Given the description of an element on the screen output the (x, y) to click on. 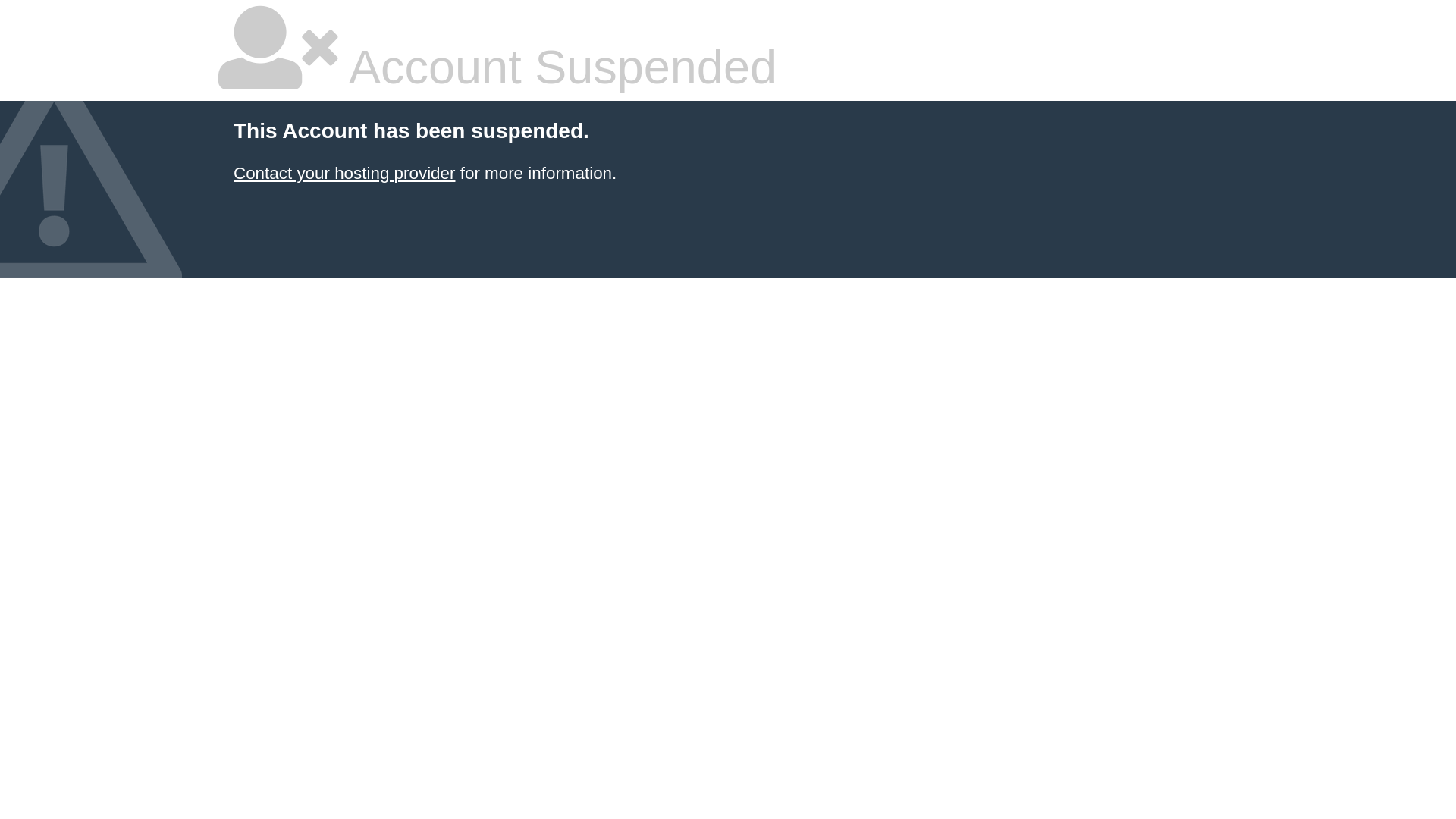
Contact your hosting provider Element type: text (344, 172)
